Given the description of an element on the screen output the (x, y) to click on. 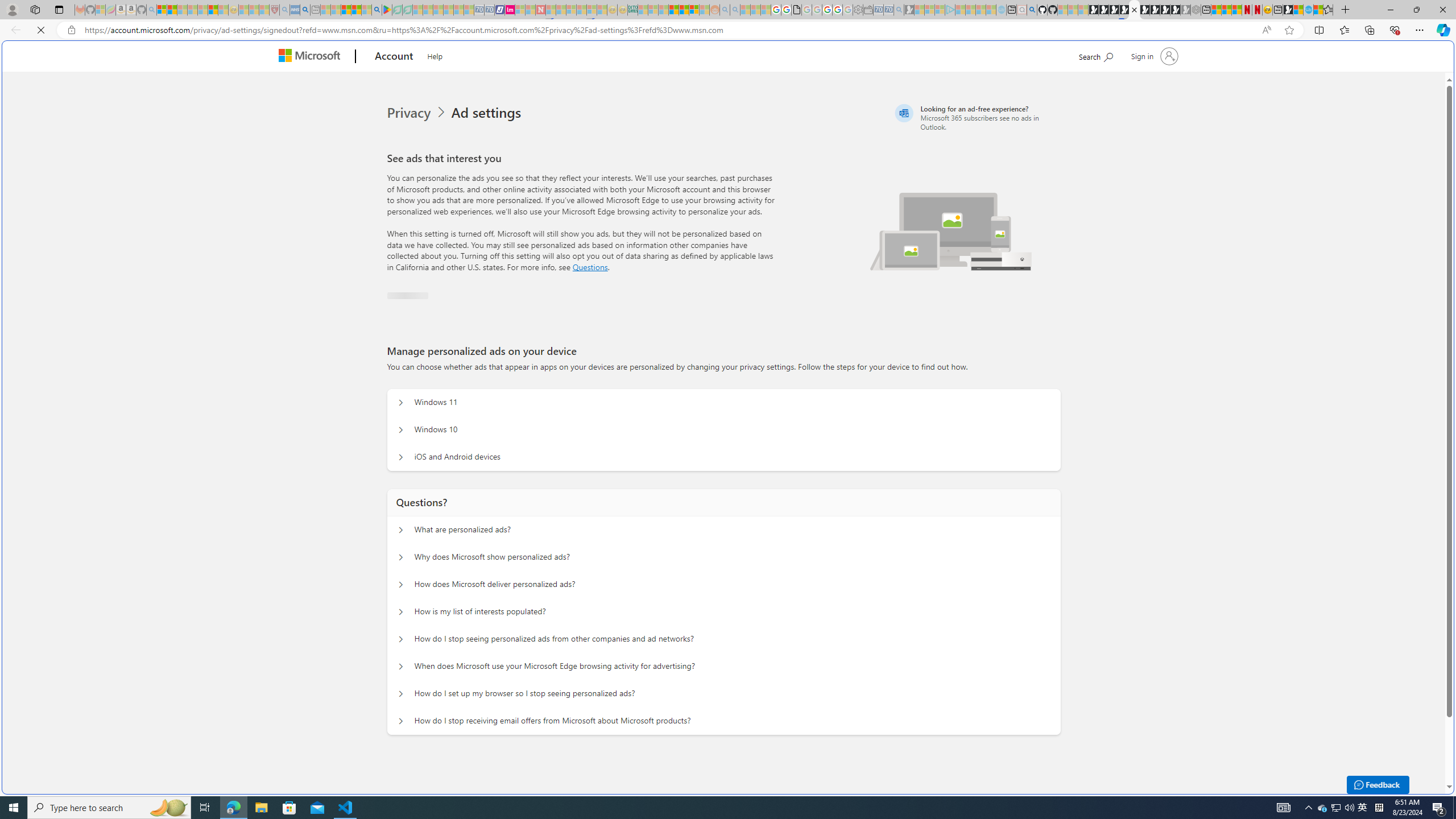
Manage personalized ads on your device Windows 11 (401, 400)
Questions? What are personalized ads? (401, 526)
utah sues federal government - Search (304, 9)
Questions? How is my list of interests populated? (401, 608)
Pets - MSN (356, 9)
Utah sues federal government - Search - Sleeping (735, 9)
